Given the description of an element on the screen output the (x, y) to click on. 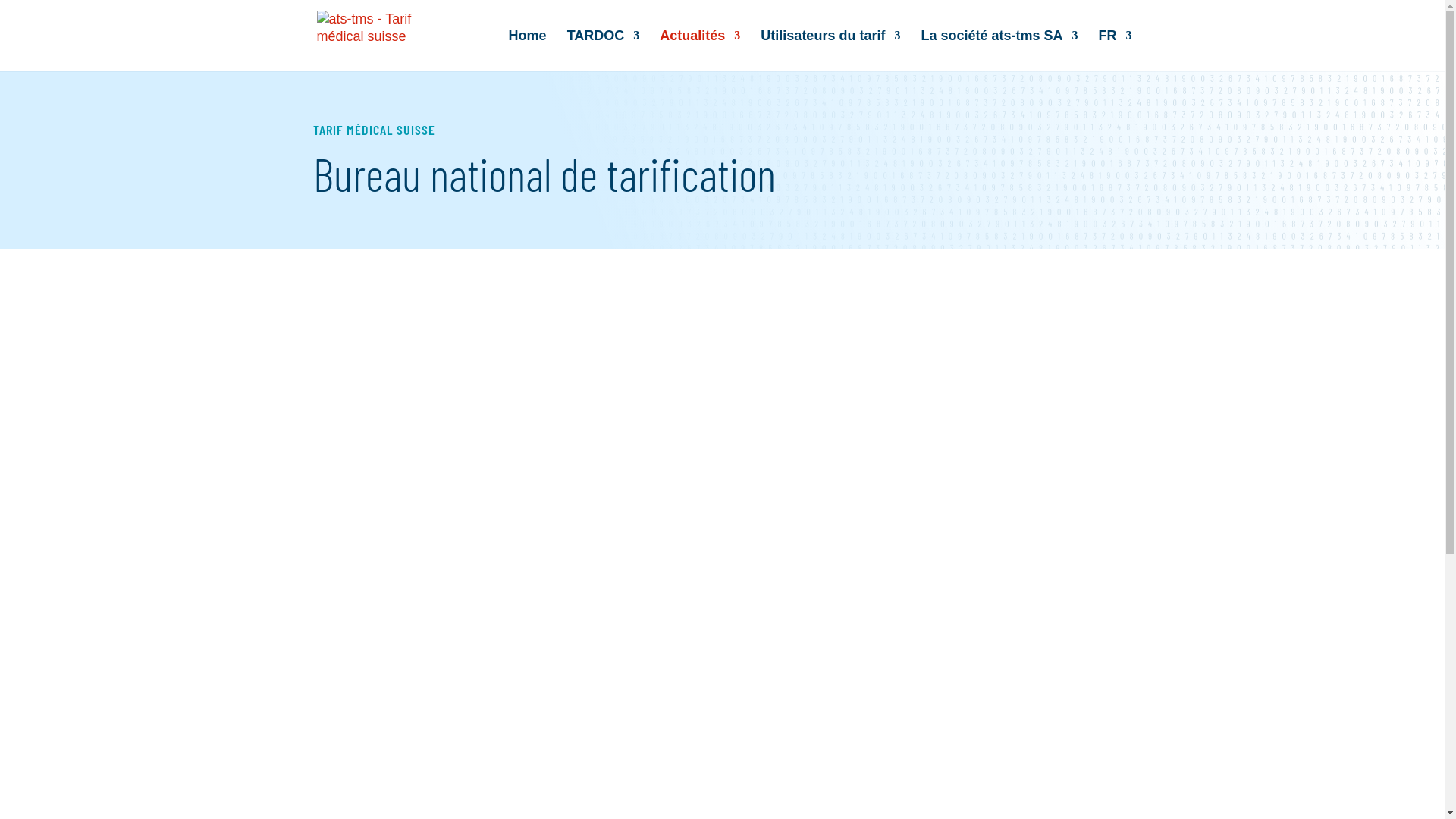
Utilisateurs du tarif Element type: text (830, 50)
TARDOC Element type: text (603, 50)
Home Element type: text (527, 50)
FR Element type: text (1114, 50)
